Given the description of an element on the screen output the (x, y) to click on. 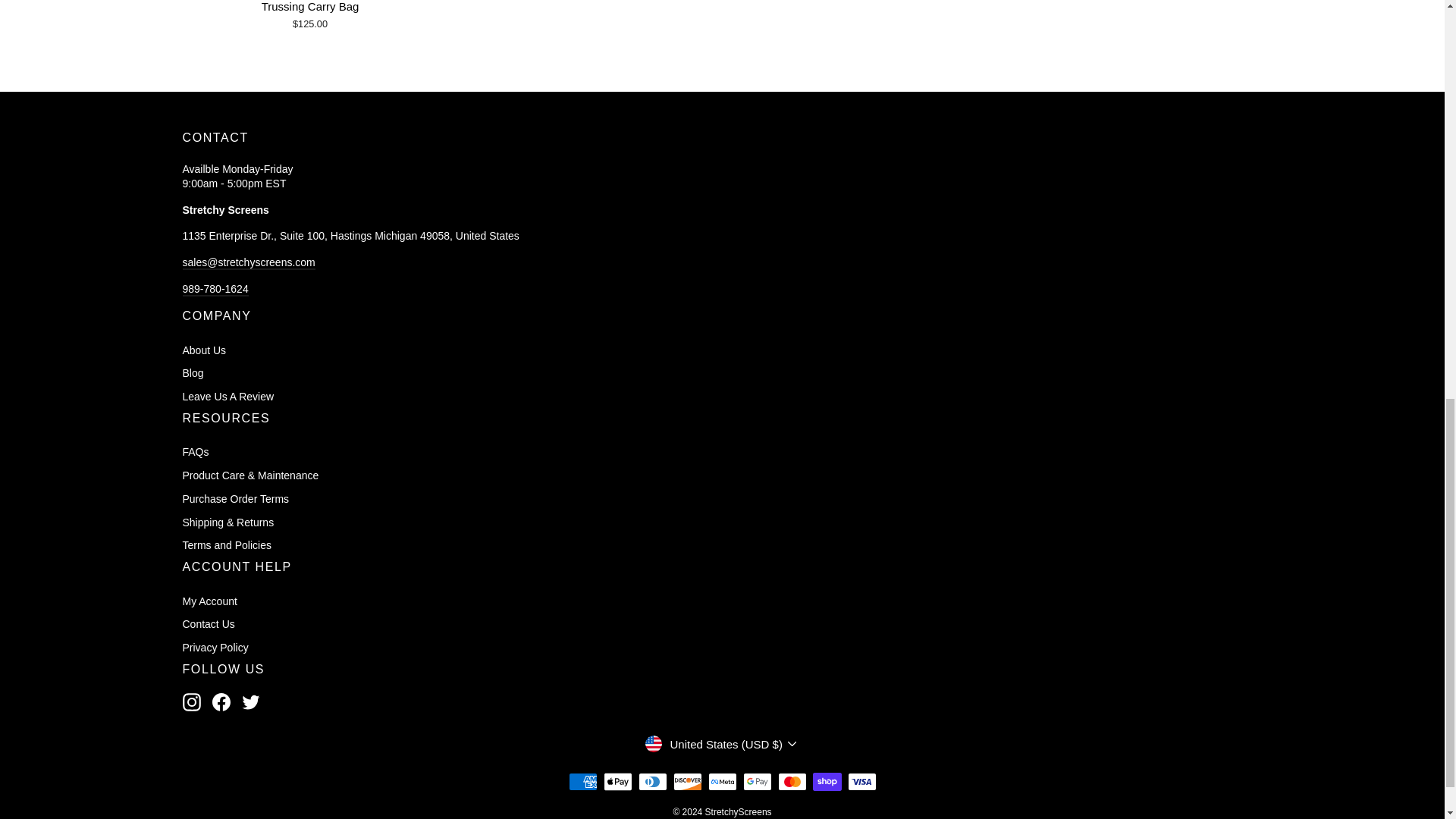
StretchyScreens on Facebook (221, 701)
Discover (686, 782)
StretchyScreens on Instagram (191, 701)
tel:989-780-1624 (214, 289)
Shop Pay (826, 782)
Diners Club (652, 782)
StretchyScreens on Twitter (250, 701)
Apple Pay (617, 782)
Visa (861, 782)
Meta Pay (721, 782)
